Given the description of an element on the screen output the (x, y) to click on. 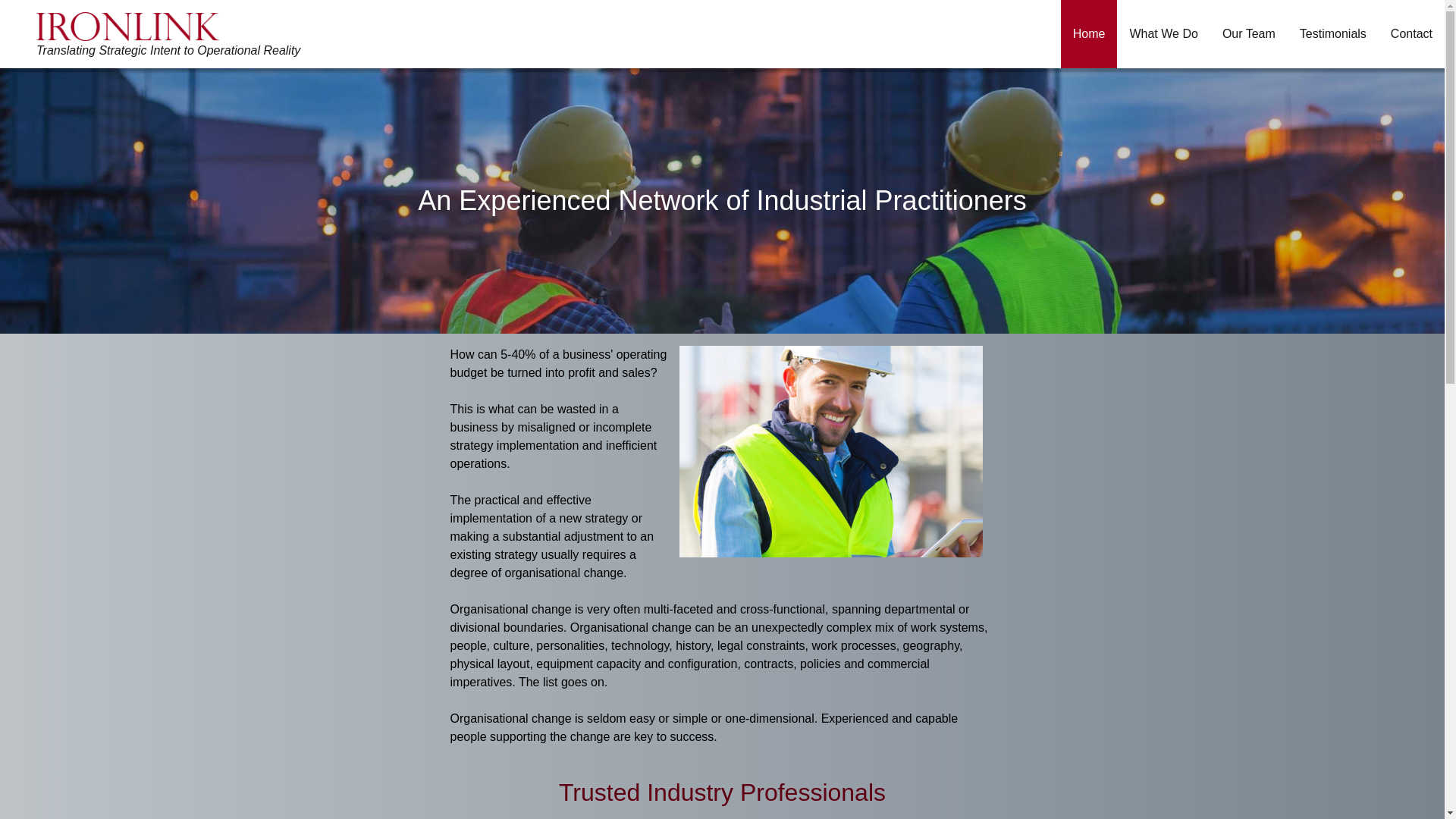
Testimonials Element type: text (1332, 34)
Home Element type: text (1088, 34)
What We Do Element type: text (1163, 34)
Contact Element type: text (1411, 34)
Our Team Element type: text (1248, 34)
